Given the description of an element on the screen output the (x, y) to click on. 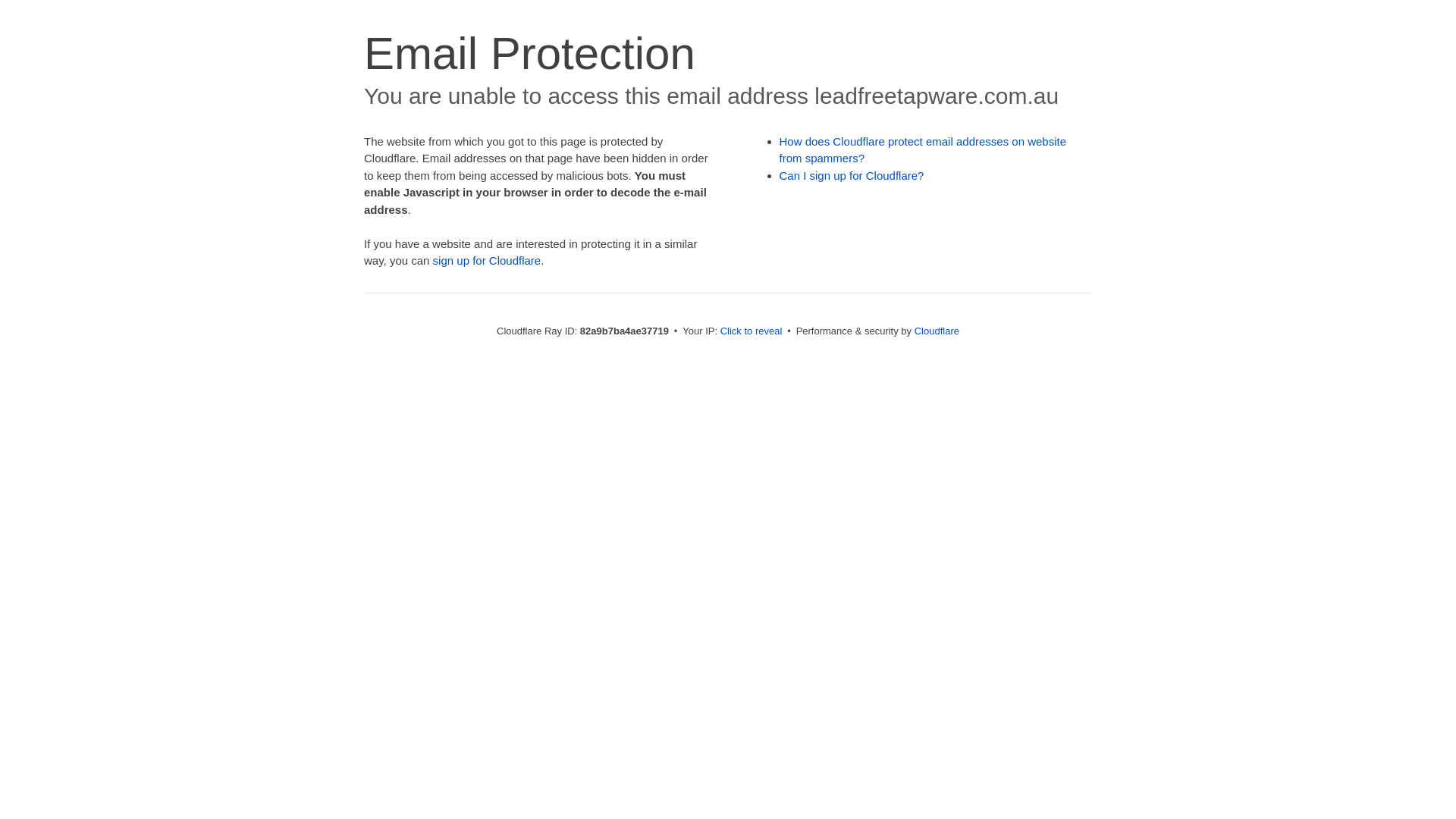
Cloudflare Element type: text (936, 330)
sign up for Cloudflare Element type: text (487, 260)
Click to reveal Element type: text (751, 330)
Can I sign up for Cloudflare? Element type: text (851, 175)
